Given the description of an element on the screen output the (x, y) to click on. 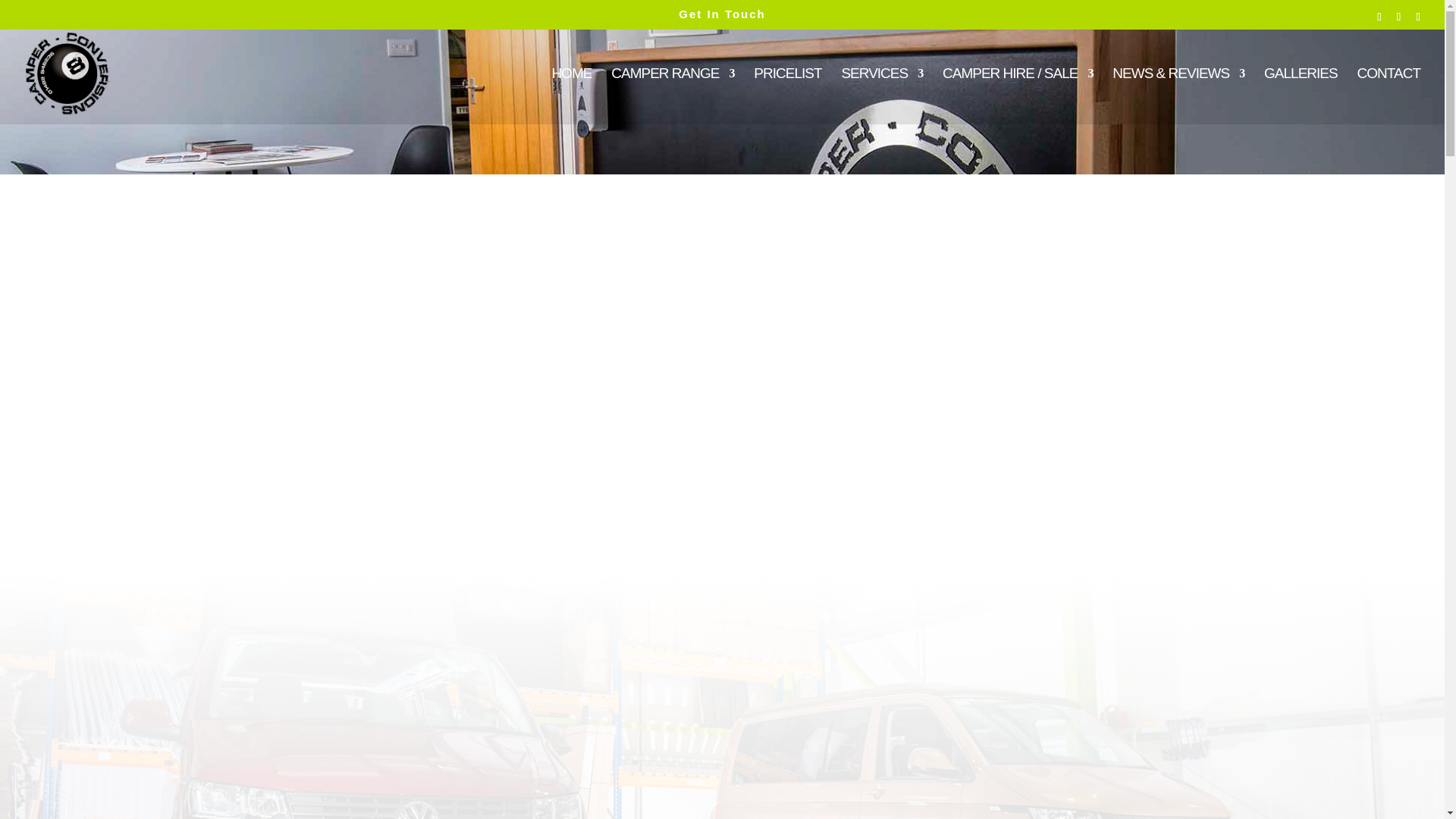
CONTACT (1388, 95)
SERVICES (882, 95)
PRICELIST (787, 95)
GALLERIES (1300, 95)
CAMPER RANGE (672, 95)
Get In Touch (721, 13)
